Given the description of an element on the screen output the (x, y) to click on. 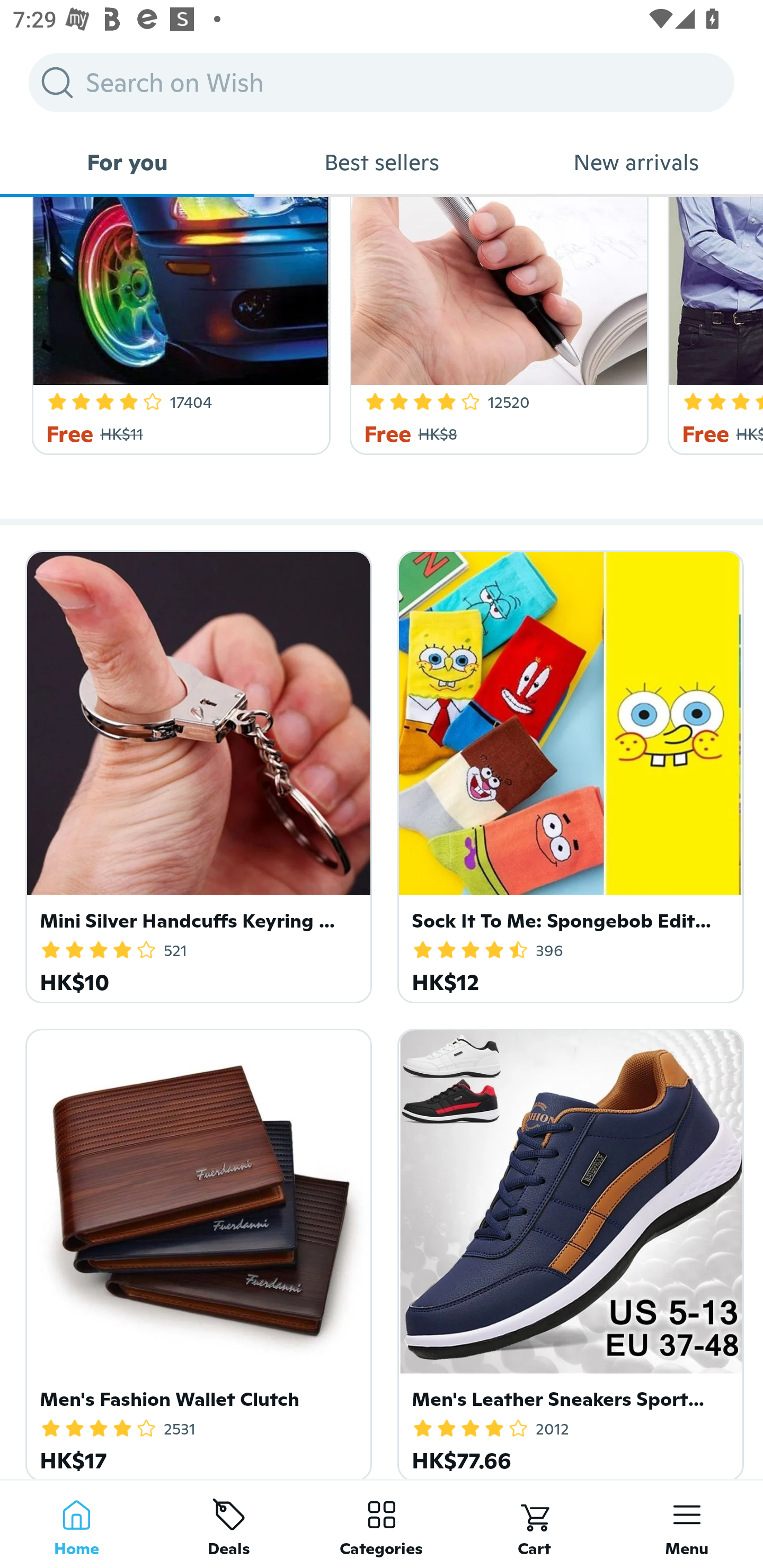
Search on Wish (381, 82)
For you (127, 161)
Best sellers (381, 161)
New arrivals (635, 161)
3.8 Star Rating 17404 Free HK$11 (177, 325)
3.9 Star Rating 12520 Free HK$8 (495, 325)
Home (76, 1523)
Deals (228, 1523)
Categories (381, 1523)
Cart (533, 1523)
Menu (686, 1523)
